Given the description of an element on the screen output the (x, y) to click on. 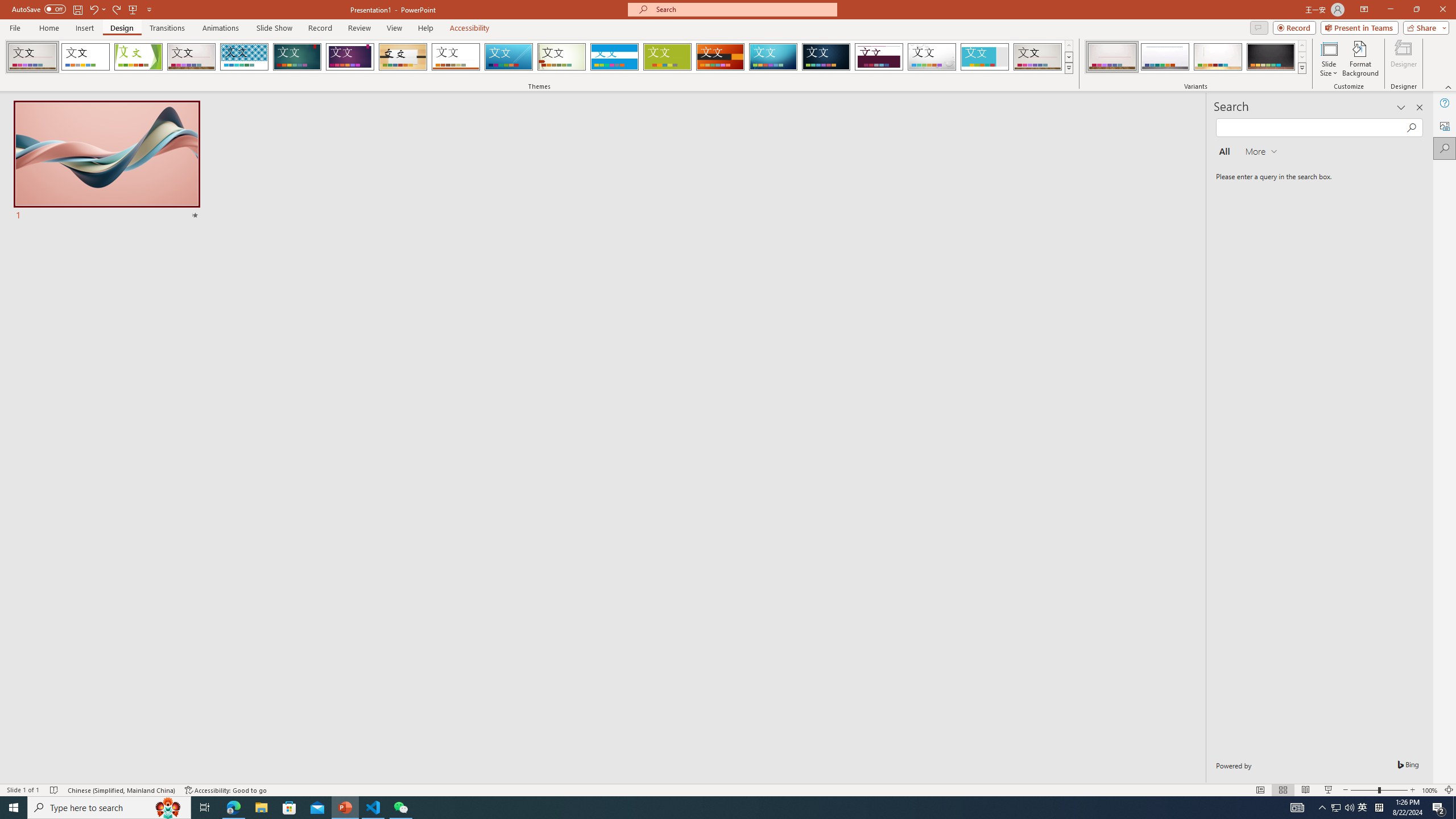
Wisp (561, 56)
Integral (244, 56)
Accessibility Checker Accessibility: Good to go (226, 790)
Gallery Variant 1 (1112, 56)
Ion (296, 56)
Variants (1301, 67)
